Given the description of an element on the screen output the (x, y) to click on. 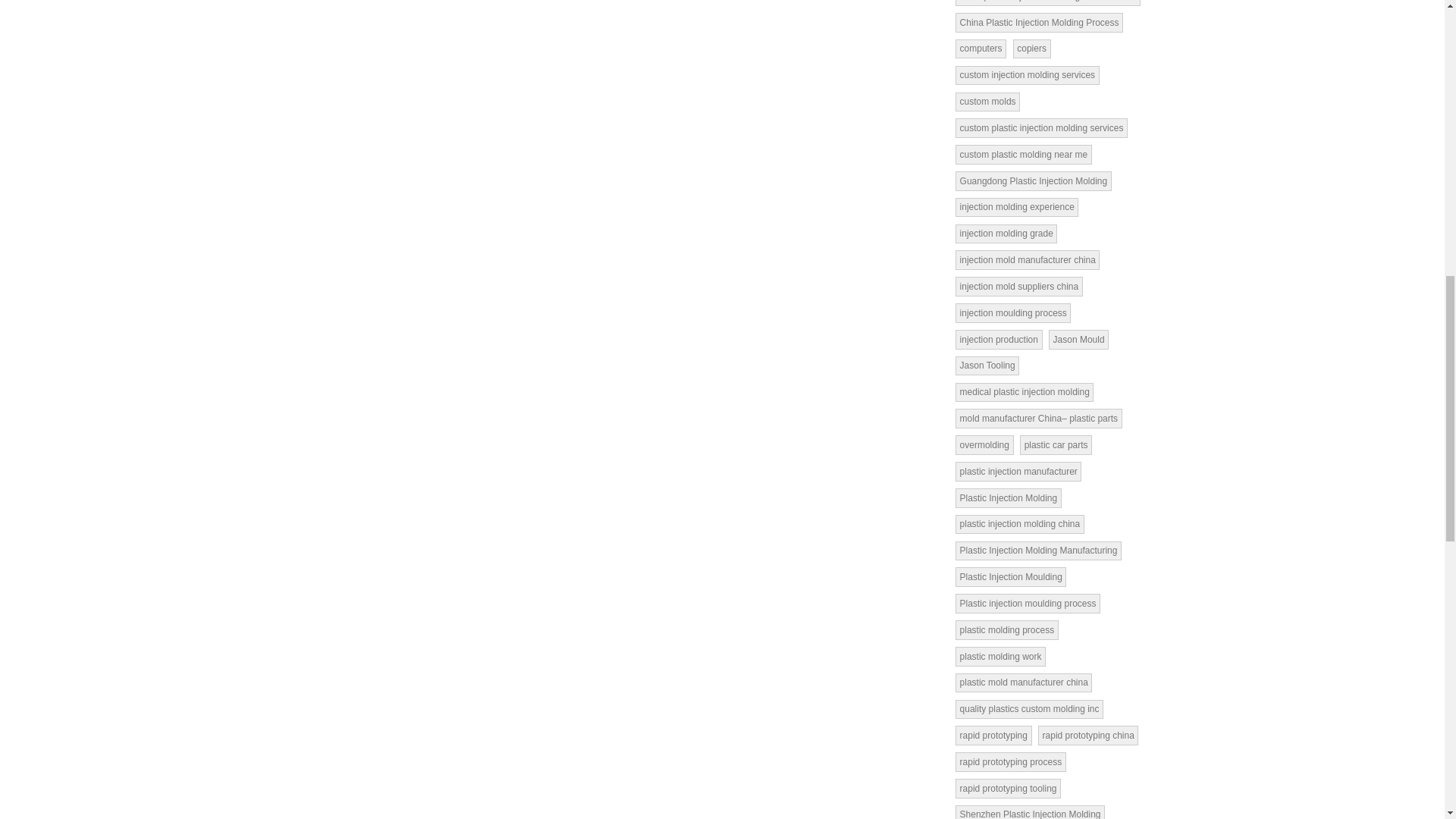
393 topics (1027, 75)
133 topics (980, 48)
71 topics (1047, 2)
134 topics (987, 102)
133 topics (1032, 48)
26 topics (1038, 22)
